Given the description of an element on the screen output the (x, y) to click on. 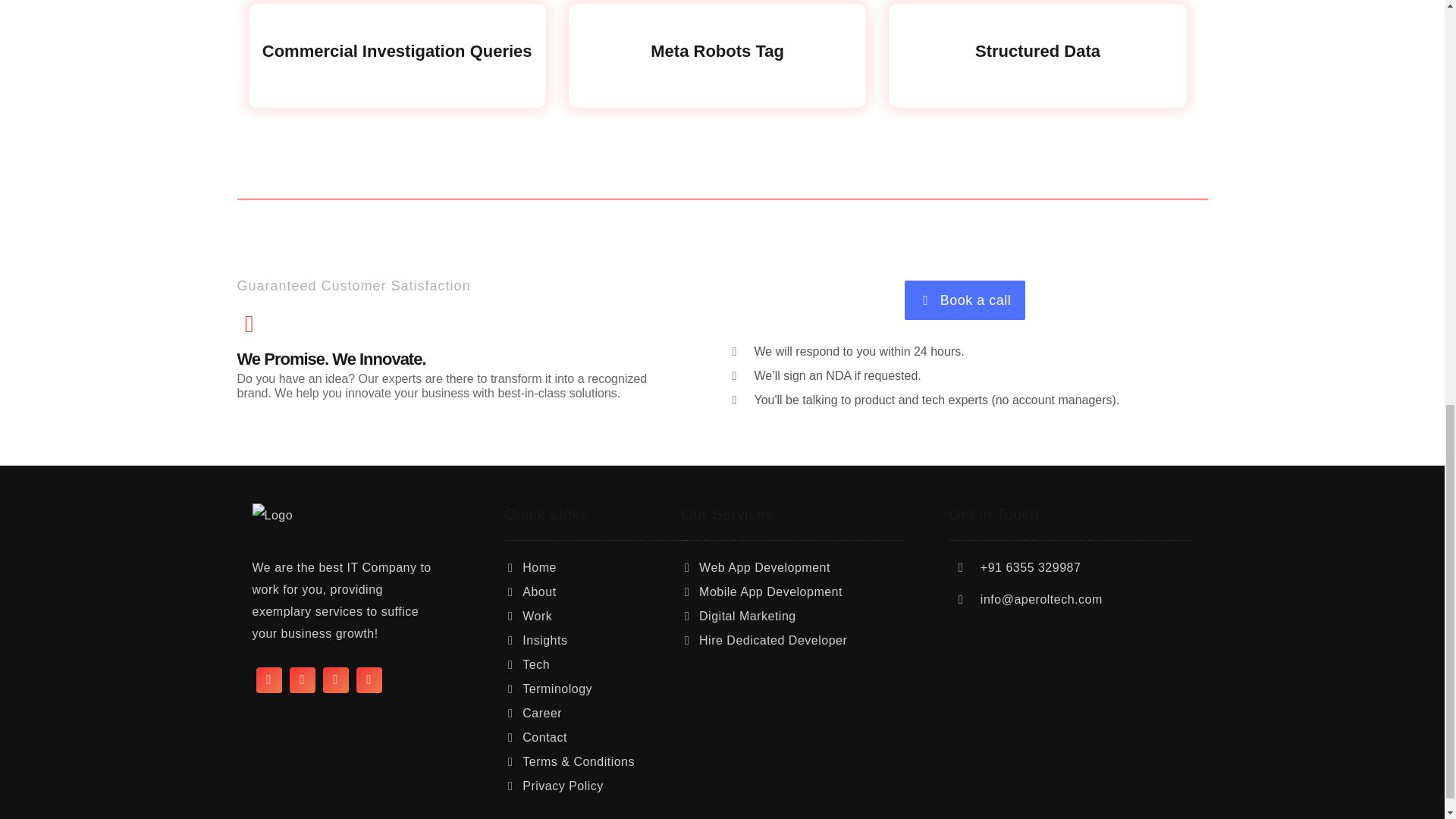
Structured Data (1037, 61)
Meta Robots Tag (717, 61)
Commercial Investigation Queries (397, 61)
